Given the description of an element on the screen output the (x, y) to click on. 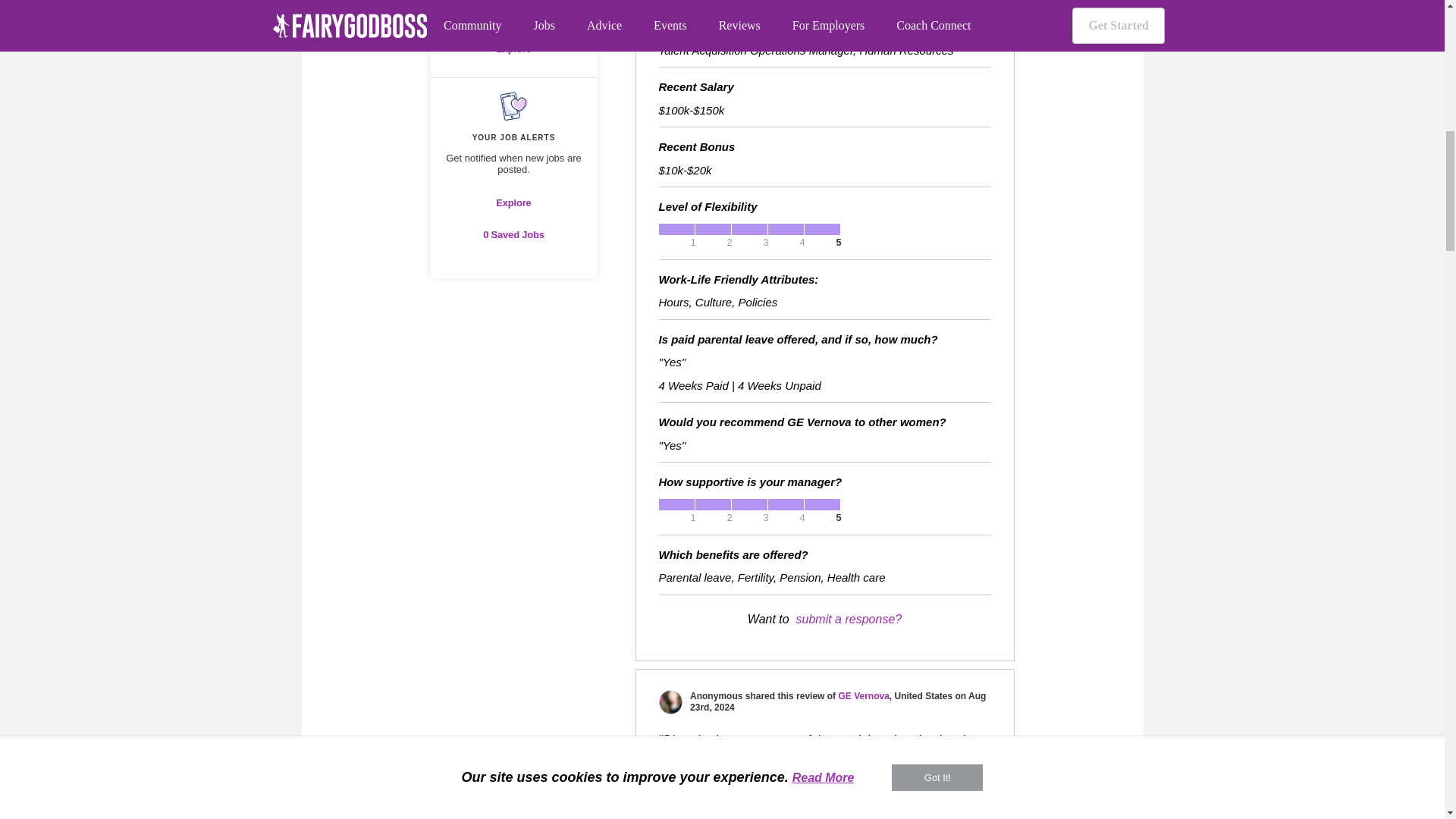
GE Vernova (863, 696)
submit a response? (849, 619)
0 Saved Jobs (514, 234)
Explore (514, 48)
Explore (514, 202)
